Given the description of an element on the screen output the (x, y) to click on. 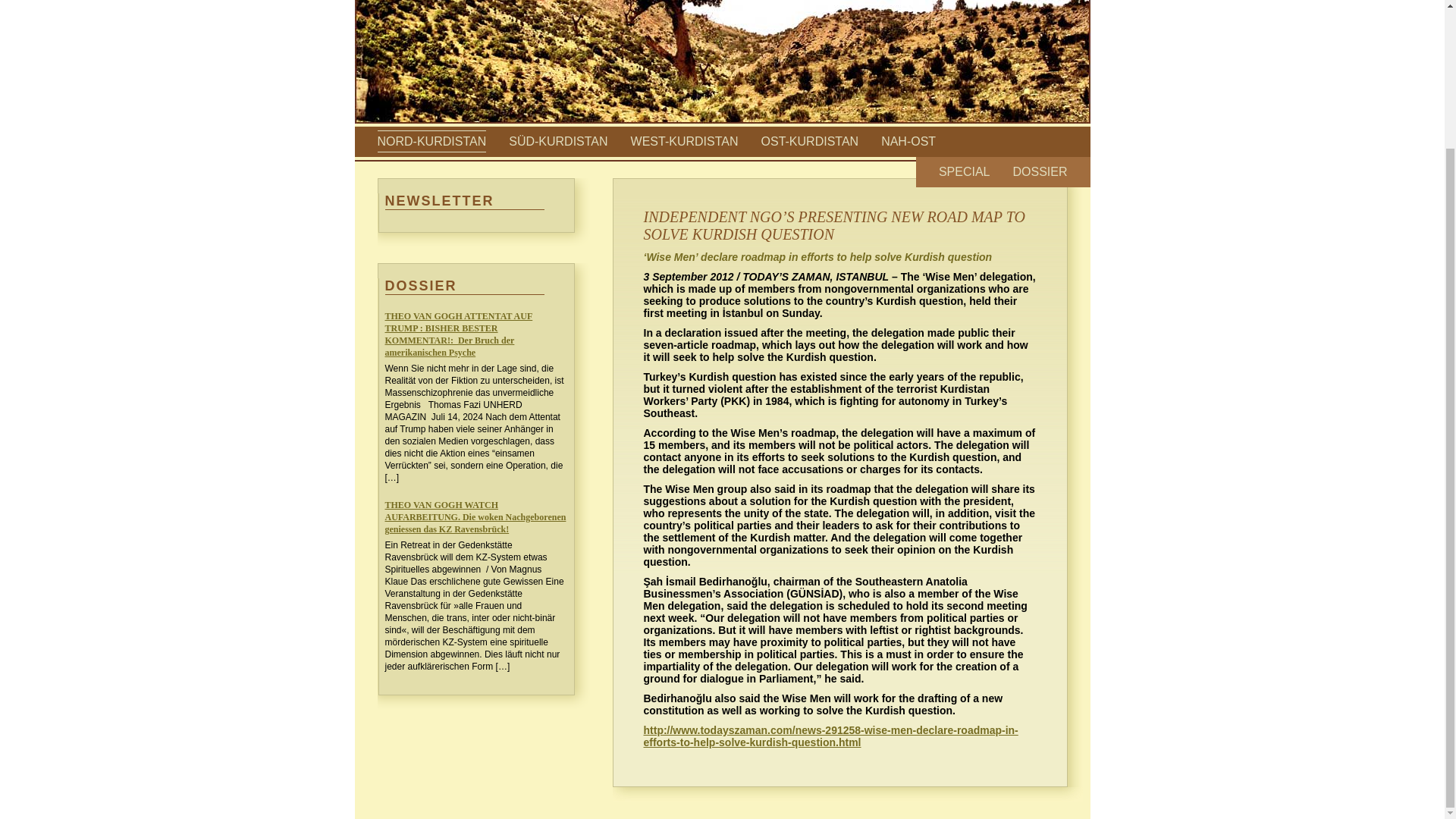
OST-KURDISTAN (810, 141)
NORD-KURDISTAN (431, 141)
DOSSIER (1039, 171)
WEST-KURDISTAN (684, 141)
SPECIAL (964, 171)
NAH-OST (908, 141)
